Given the description of an element on the screen output the (x, y) to click on. 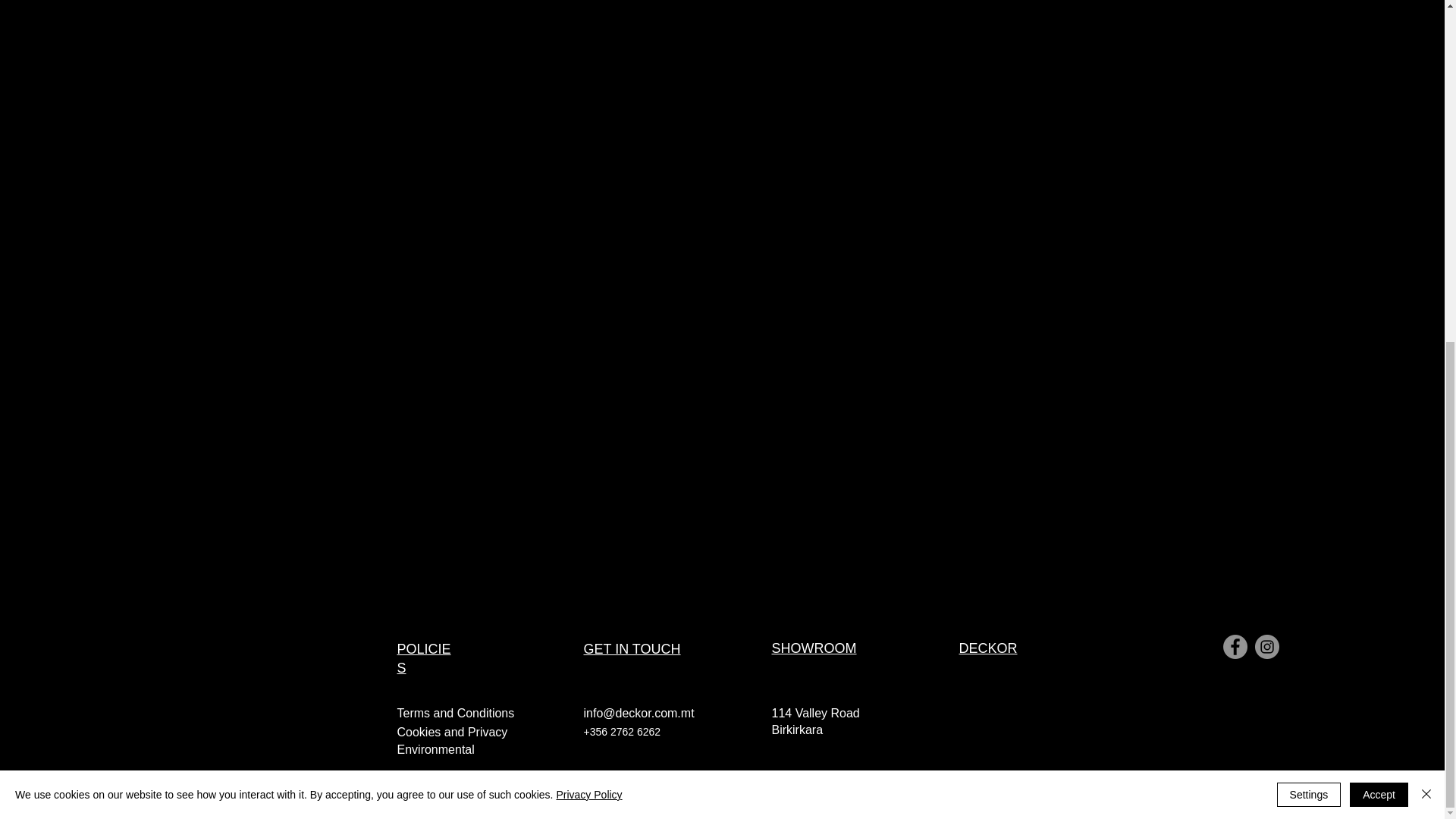
Privacy Policy (588, 214)
Settings (1308, 213)
Accept (1378, 213)
